Given the description of an element on the screen output the (x, y) to click on. 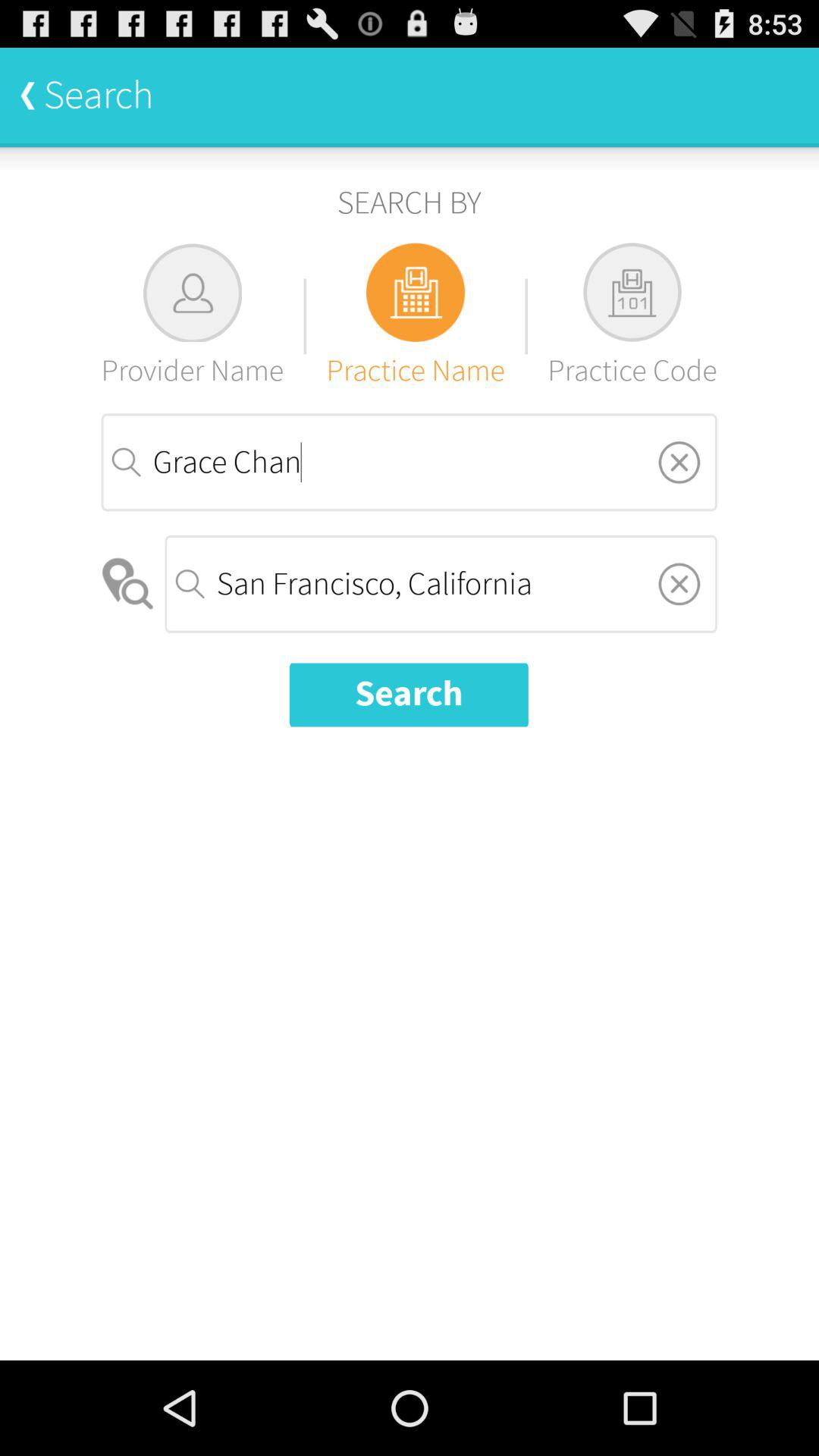
remove city (679, 583)
